Given the description of an element on the screen output the (x, y) to click on. 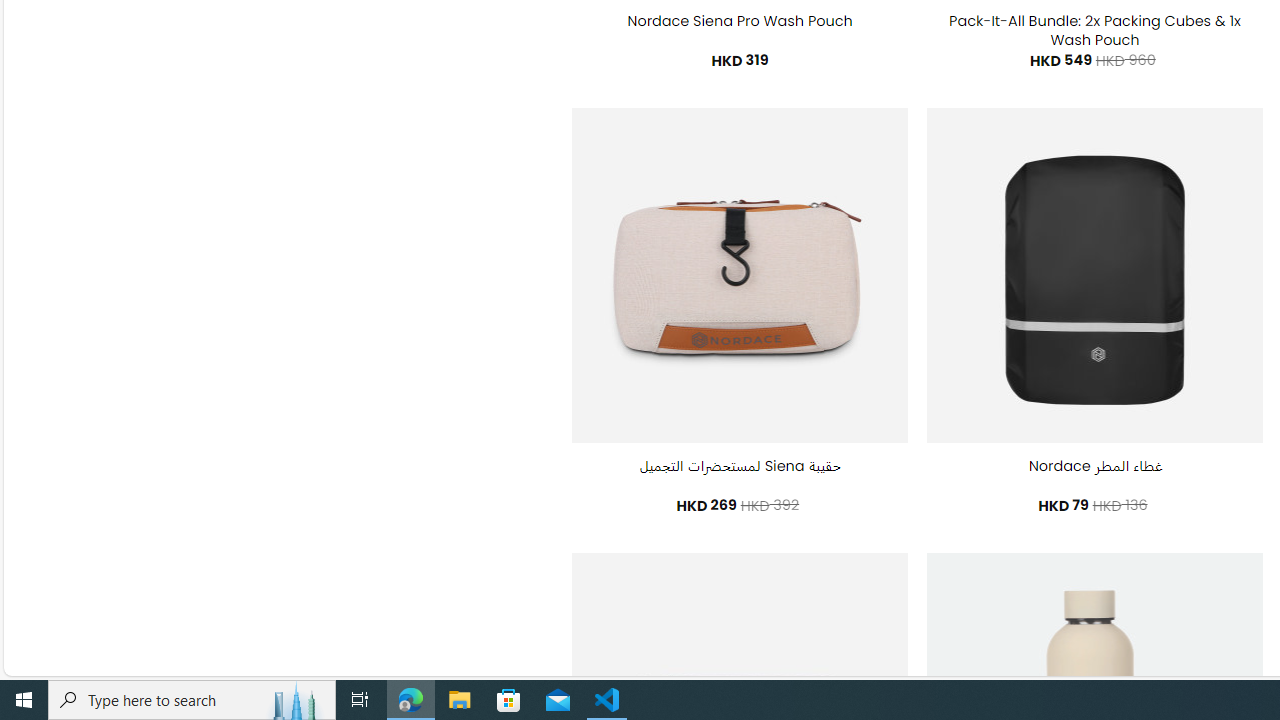
Nordace Siena Pro Wash Pouch (739, 21)
Pack-It-All Bundle: 2x Packing Cubes & 1x Wash Pouch (1094, 29)
